Given the description of an element on the screen output the (x, y) to click on. 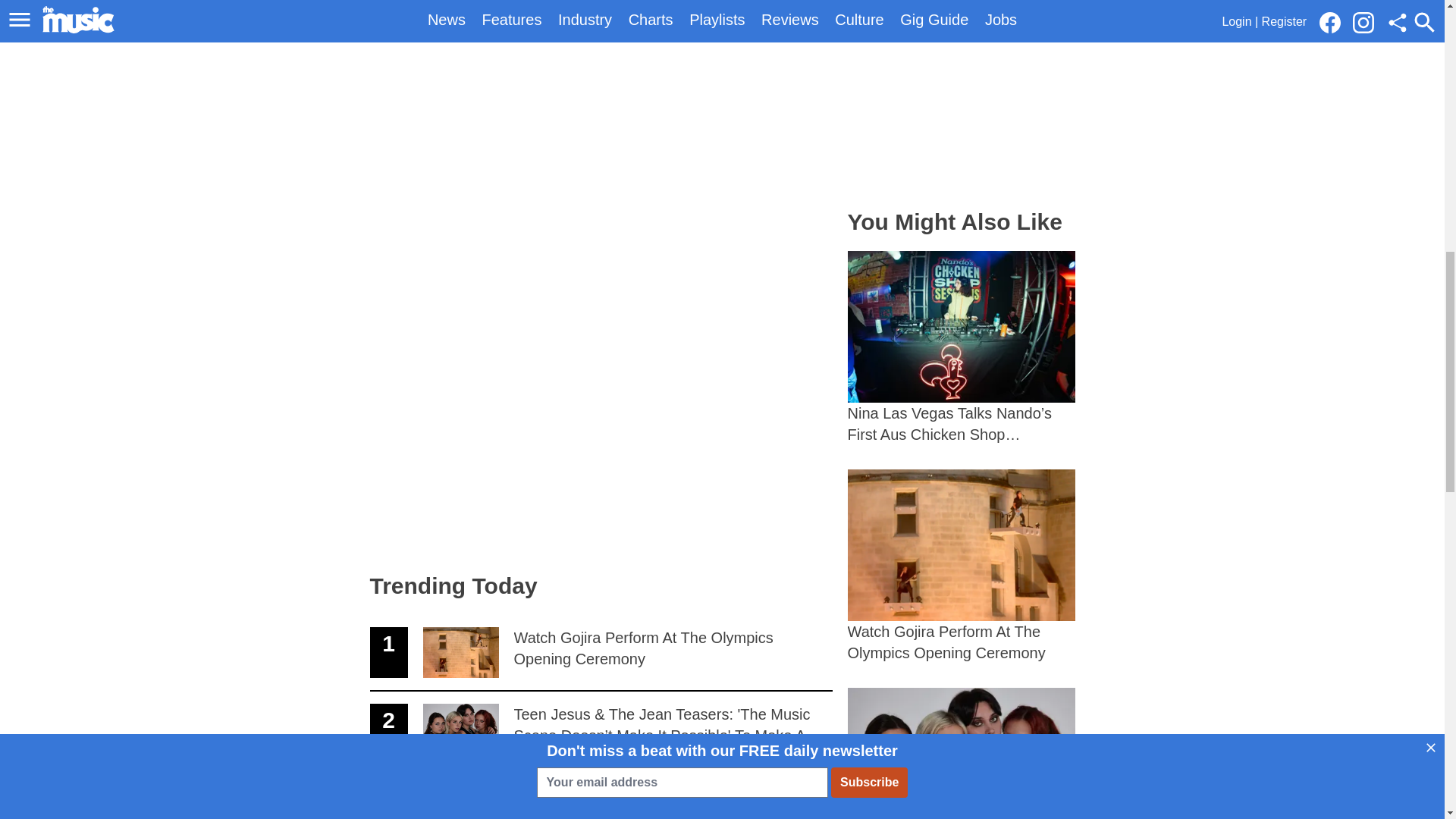
3rd party ad content (961, 96)
Watch Gojira Perform At The Olympics Opening Ceremony (600, 653)
